Given the description of an element on the screen output the (x, y) to click on. 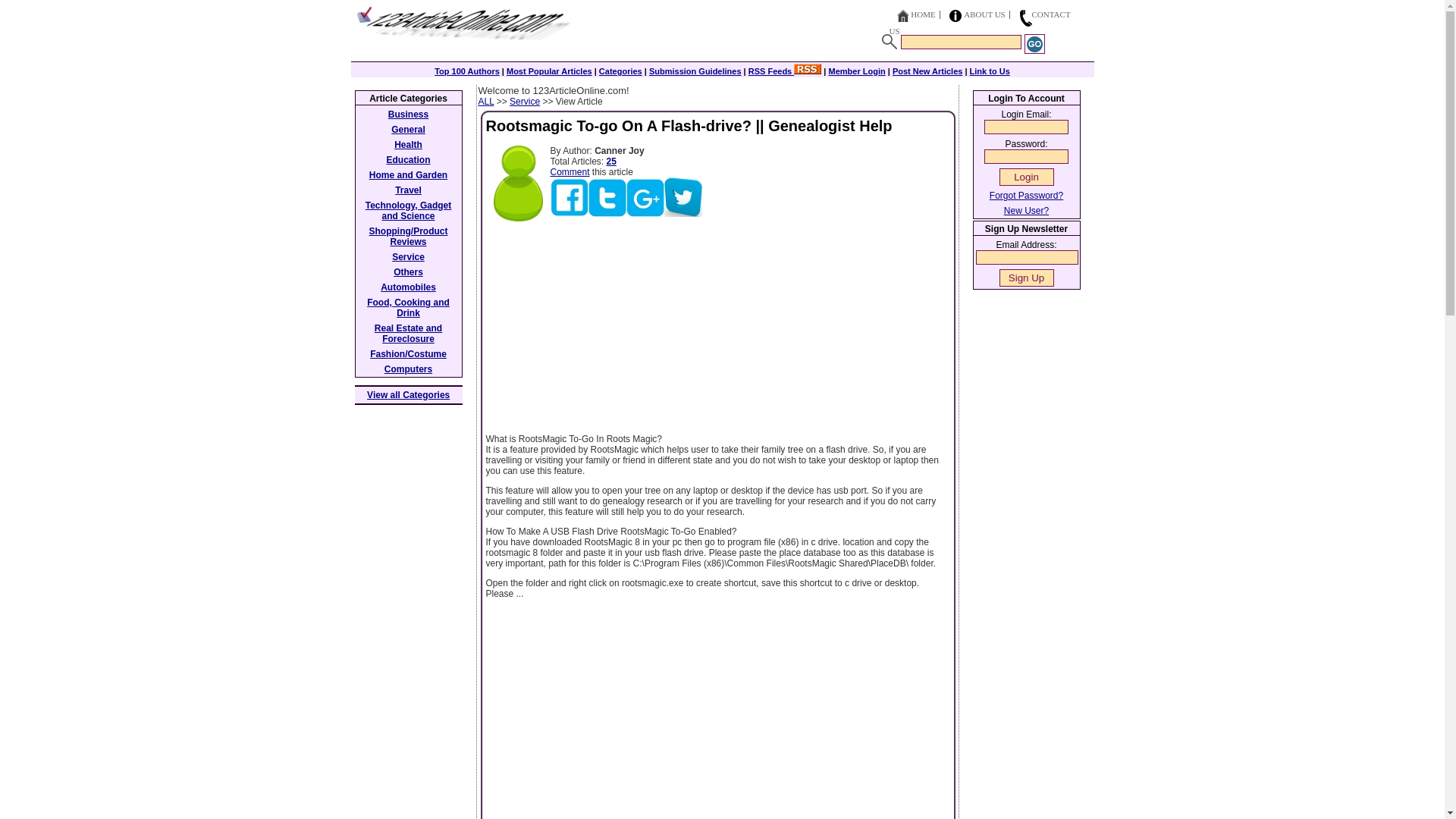
Service (524, 101)
Comment (569, 172)
Top 100 Authors (466, 71)
Most Popular Articles (549, 71)
ALL (485, 101)
25 (611, 161)
Categories (620, 71)
Submission Guidelines (695, 71)
